Given the description of an element on the screen output the (x, y) to click on. 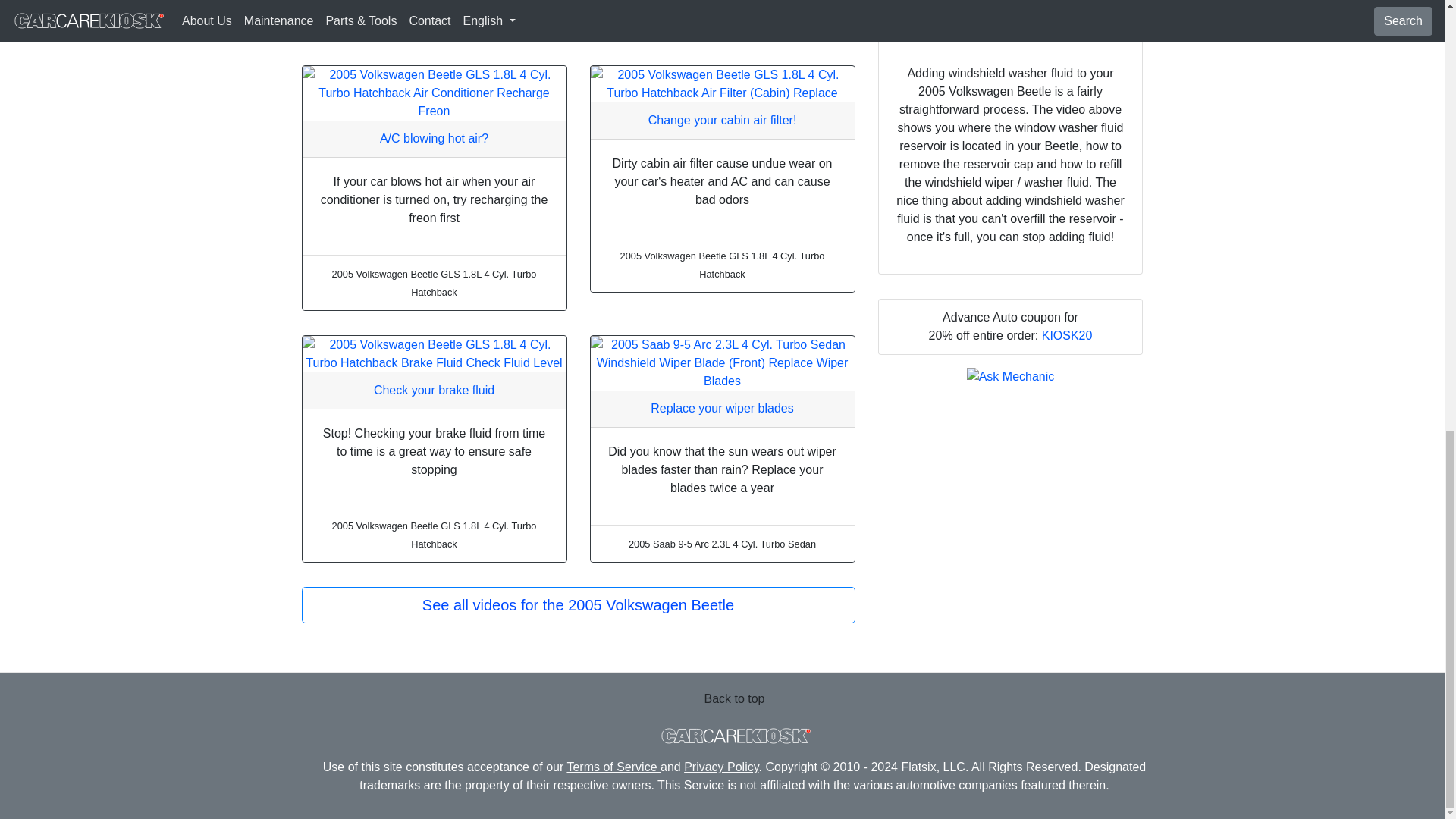
KIOSK20 (1067, 335)
Change your cabin air filter! (721, 119)
Check your brake fluid (434, 390)
Replace your wiper blades (721, 408)
Back to top (734, 698)
See all videos for the 2005 Volkswagen Beetle (578, 605)
